Given the description of an element on the screen output the (x, y) to click on. 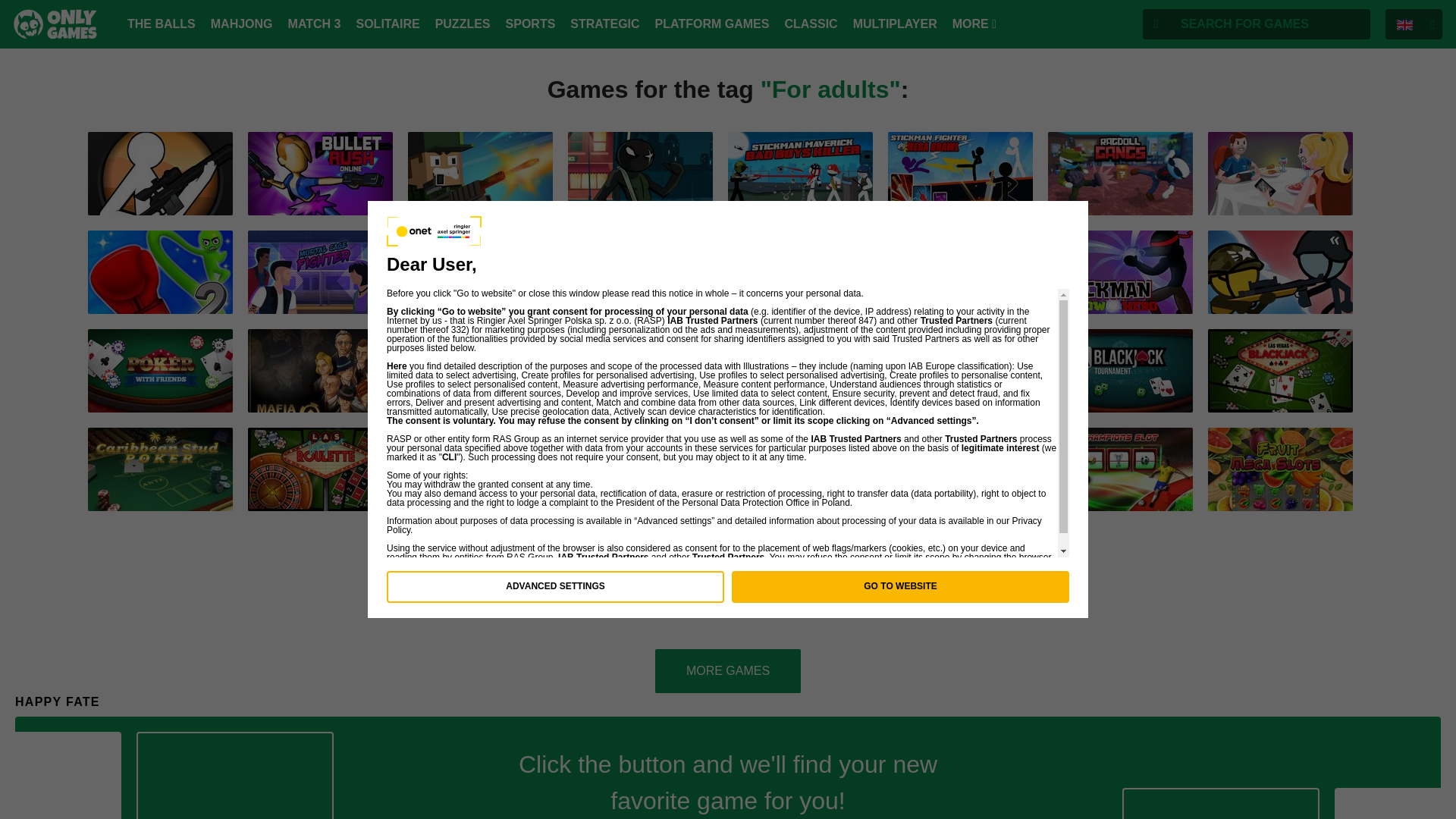
CLASSIC (810, 23)
MORE (974, 24)
MAHJONG (242, 23)
SPORTS (530, 23)
THE BALLS (161, 23)
SOLITAIRE (387, 23)
MULTIPLAYER (895, 23)
MATCH 3 (314, 23)
STRATEGIC (604, 23)
PUZZLES (462, 23)
